Given the description of an element on the screen output the (x, y) to click on. 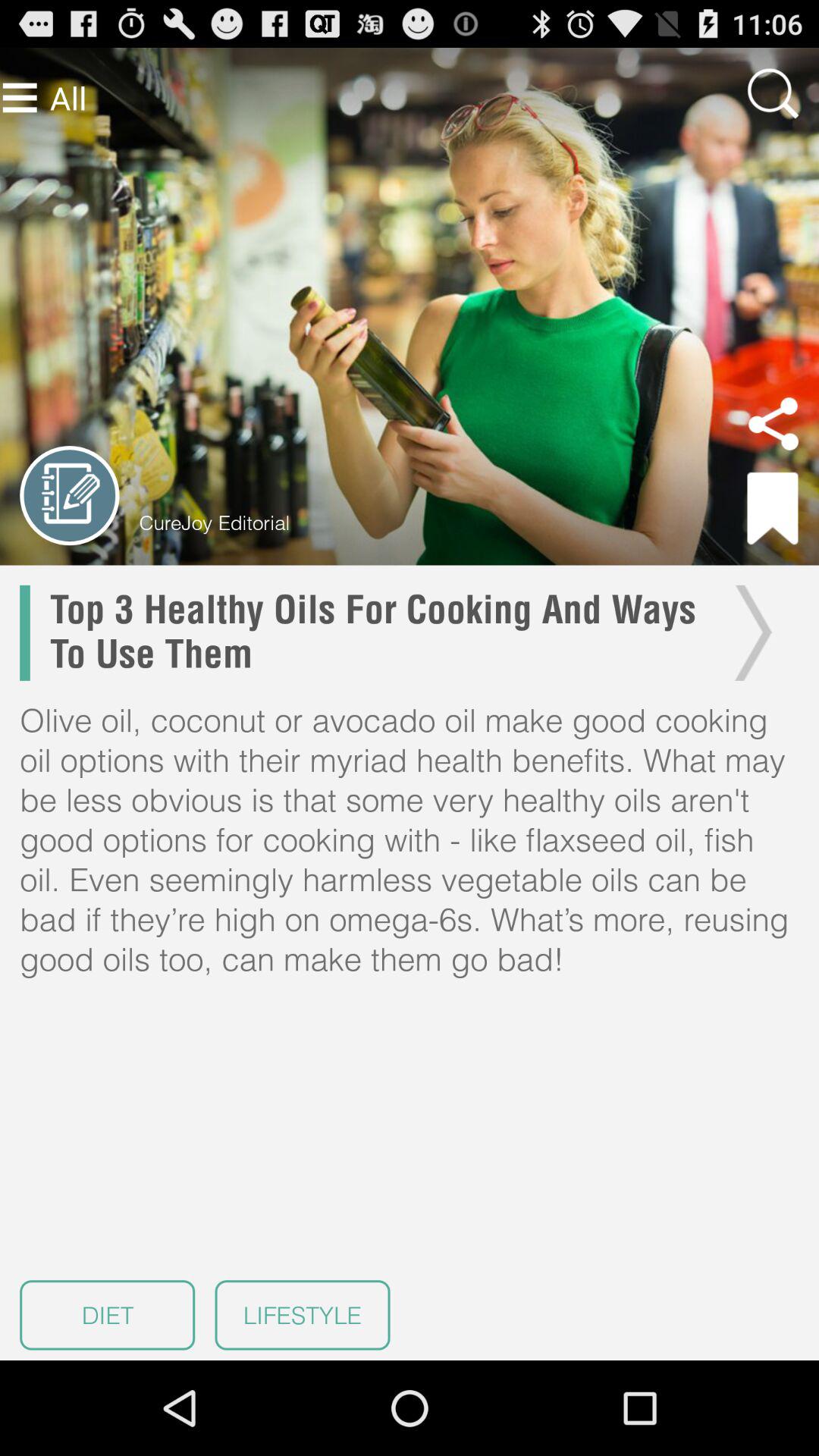
flip until the diet icon (107, 1315)
